Given the description of an element on the screen output the (x, y) to click on. 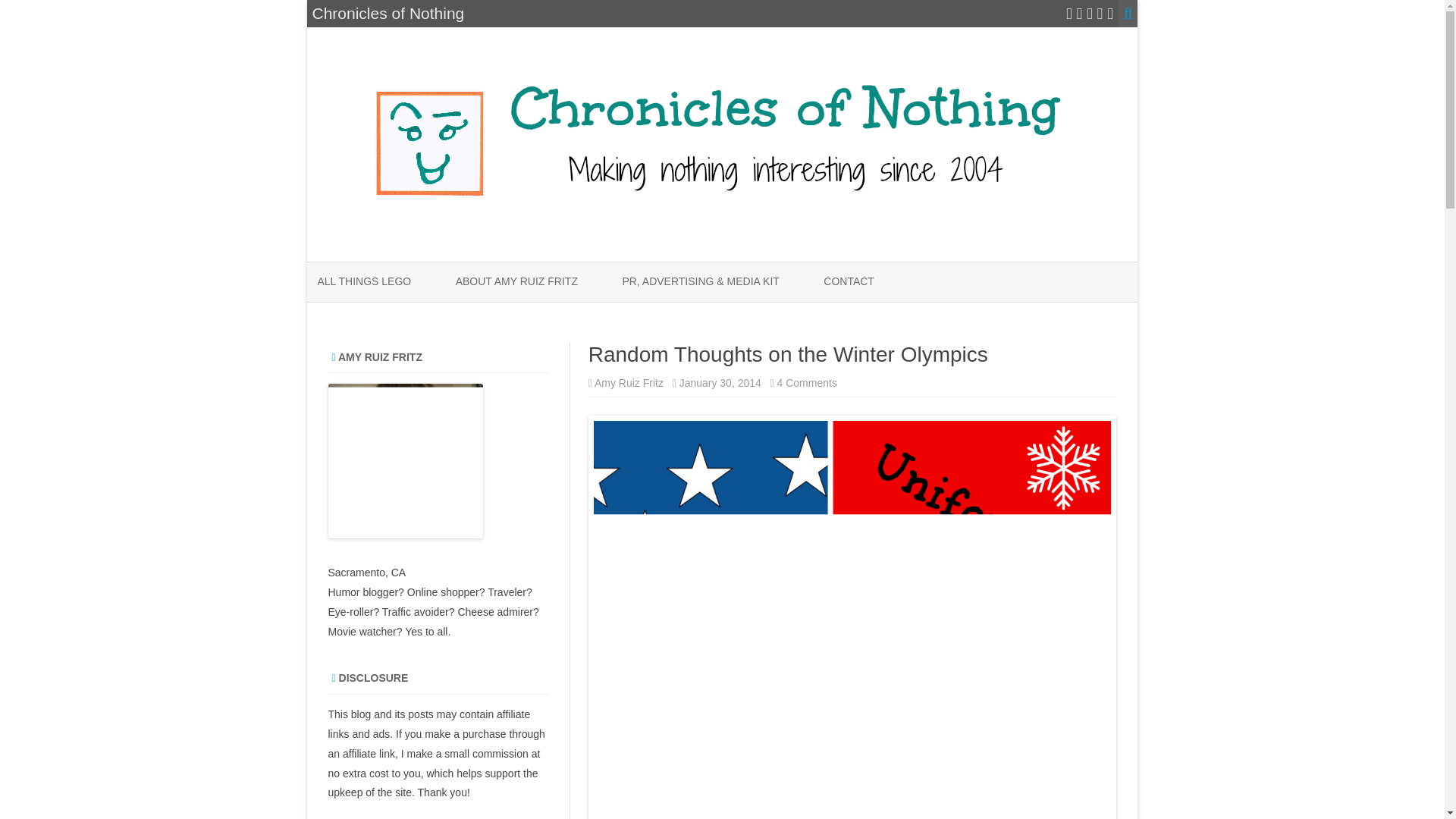
ABOUT AMY RUIZ FRITZ (516, 282)
Amy Ruiz Fritz (807, 382)
ALL THINGS LEGO (628, 382)
CONTACT (363, 282)
Skip to content (849, 282)
